Given the description of an element on the screen output the (x, y) to click on. 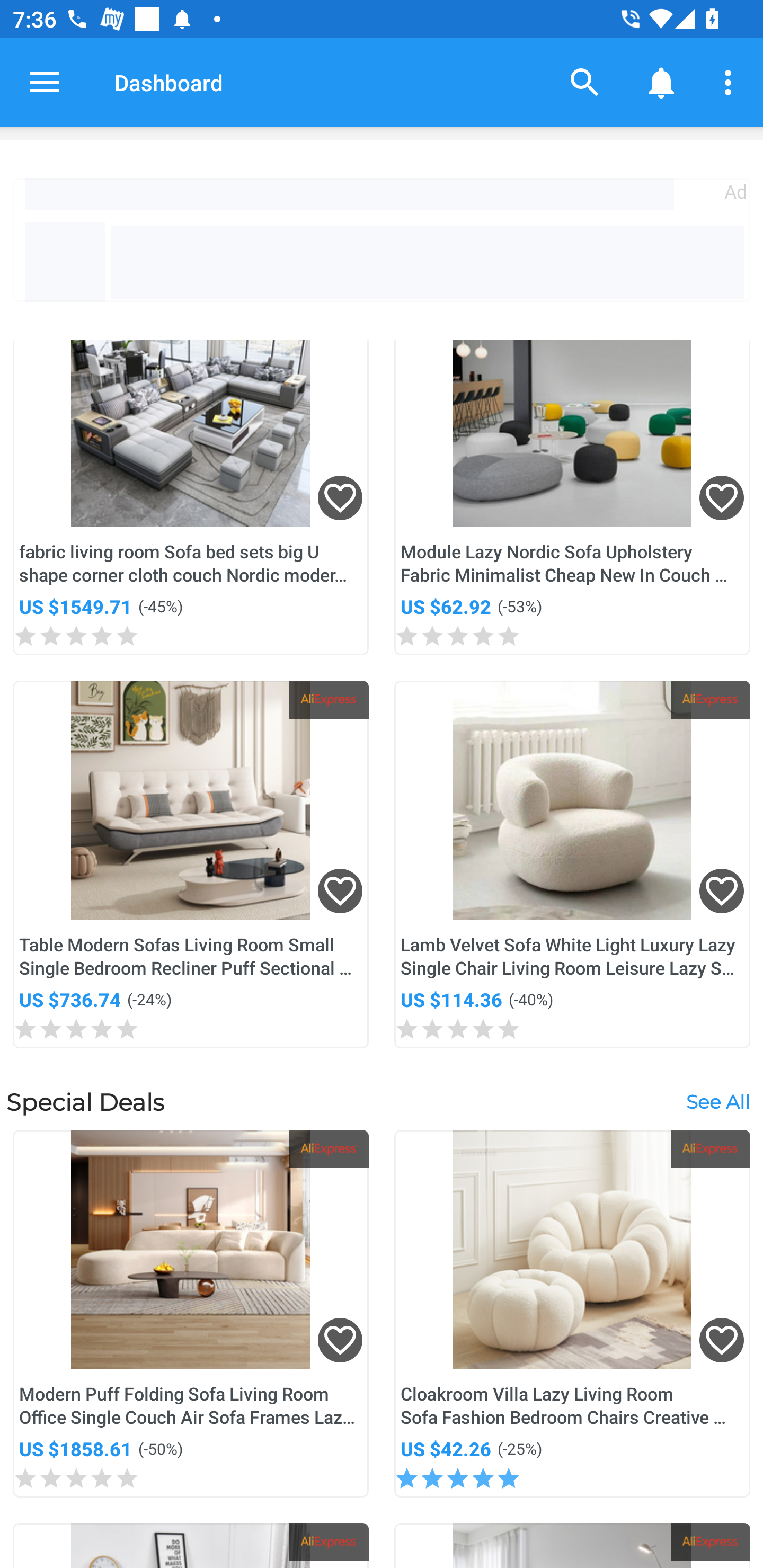
Open navigation drawer (44, 82)
Search (585, 81)
More options (731, 81)
See All (717, 1101)
